Given the description of an element on the screen output the (x, y) to click on. 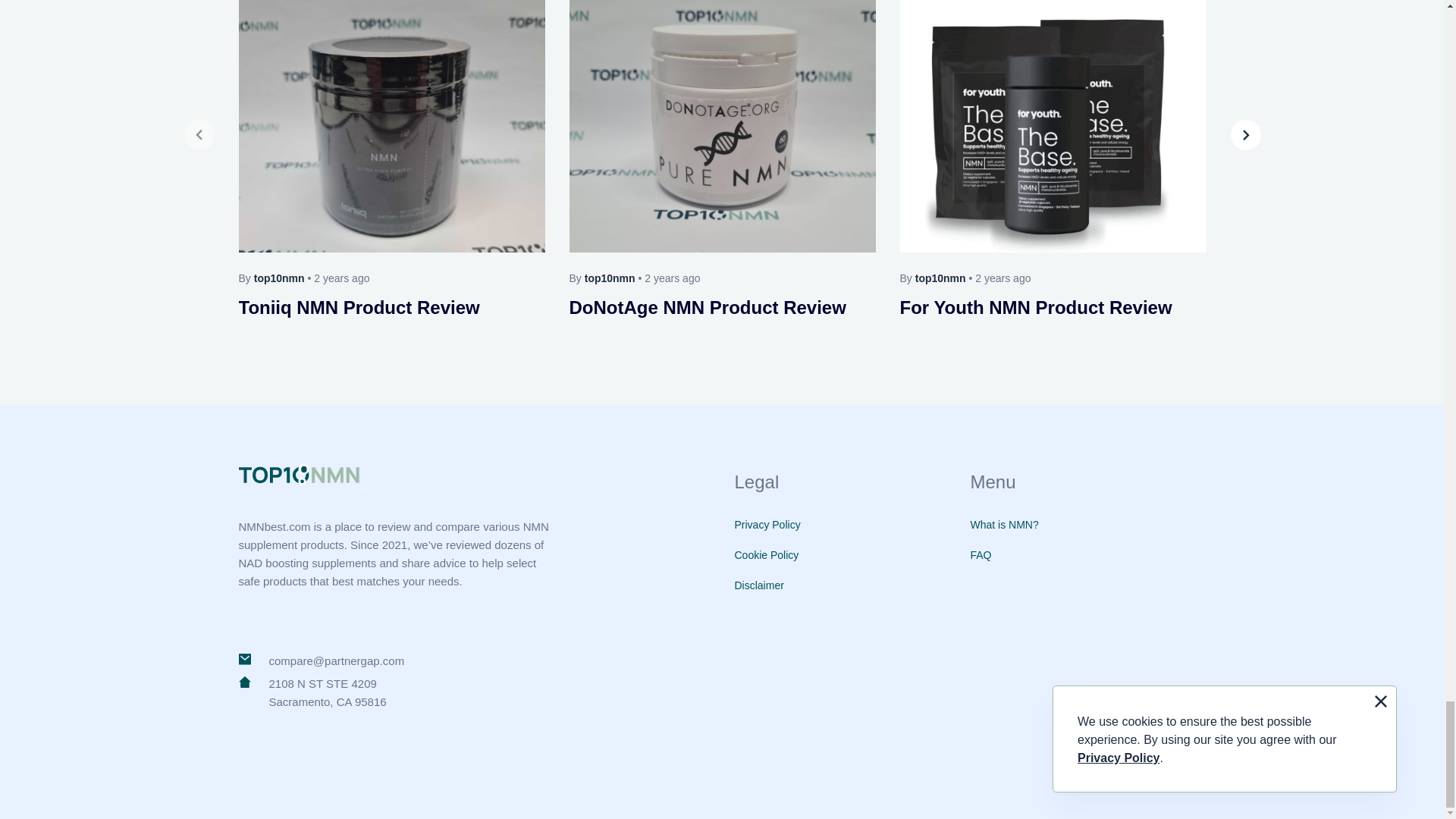
What is NMN? (1005, 524)
Disclaimer (758, 585)
FAQ (981, 554)
Privacy Policy (766, 524)
Cookie Policy (765, 554)
